Given the description of an element on the screen output the (x, y) to click on. 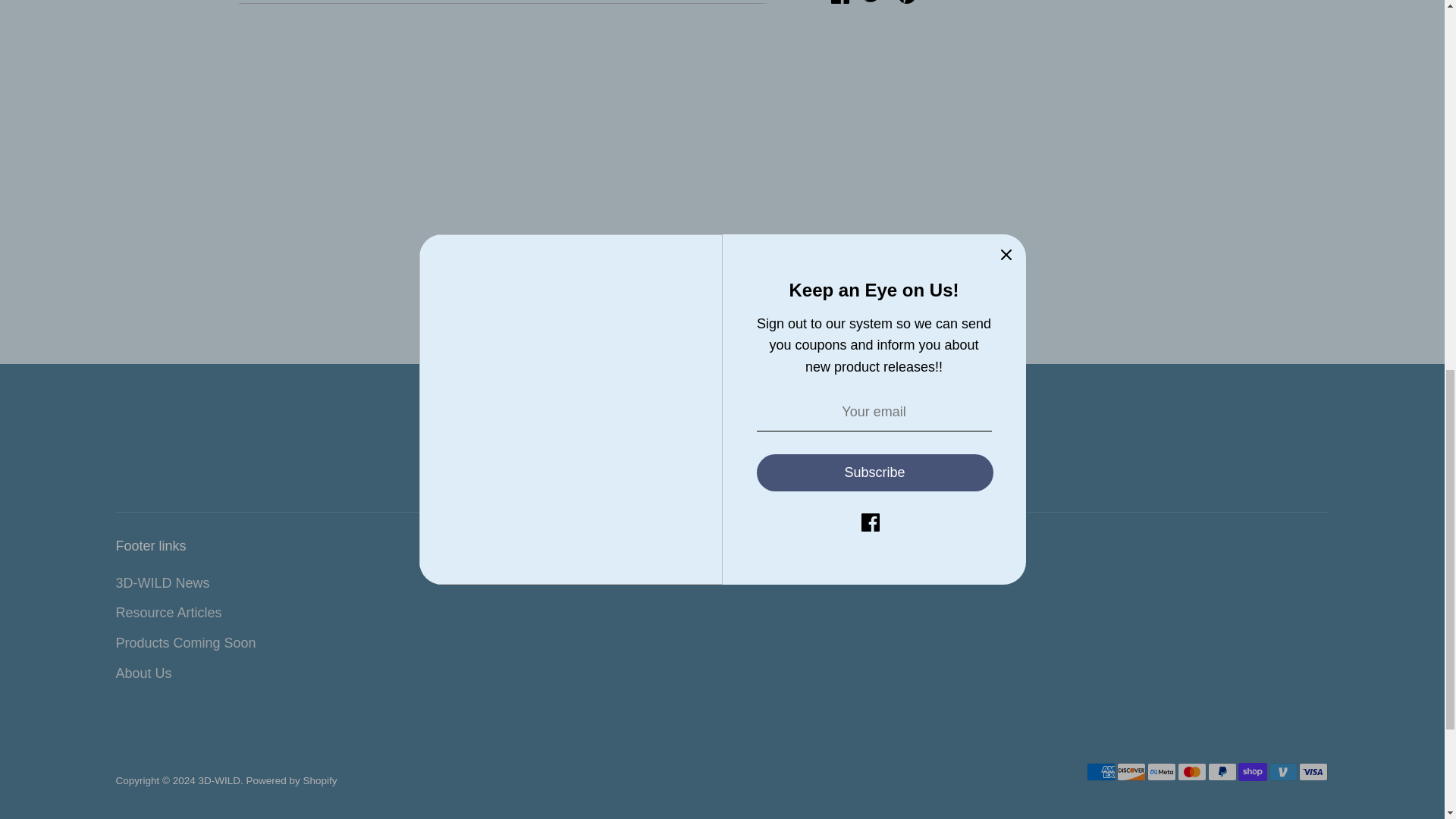
Meta Pay (1160, 771)
Mastercard (1190, 771)
Shop Pay (1251, 771)
Discover (1130, 771)
Venmo (1282, 771)
PayPal (1221, 771)
American Express (1100, 771)
